Given the description of an element on the screen output the (x, y) to click on. 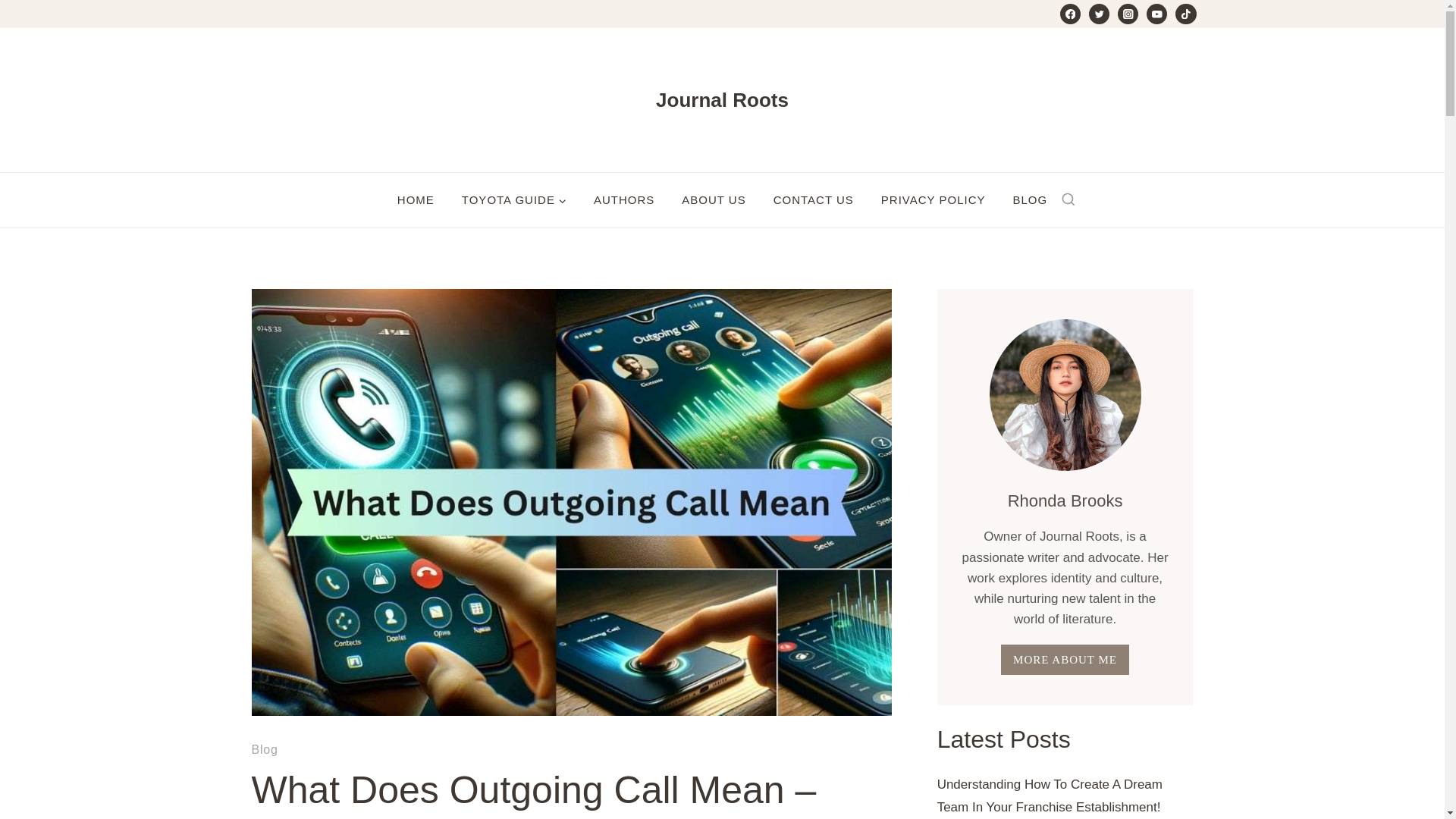
BLOG (1029, 200)
TOYOTA GUIDE (513, 200)
Journal Roots (722, 100)
CONTACT US (813, 200)
PRIVACY POLICY (932, 200)
AUTHORS (623, 200)
ABOUT US (713, 200)
HOME (416, 200)
Blog (264, 748)
